Given the description of an element on the screen output the (x, y) to click on. 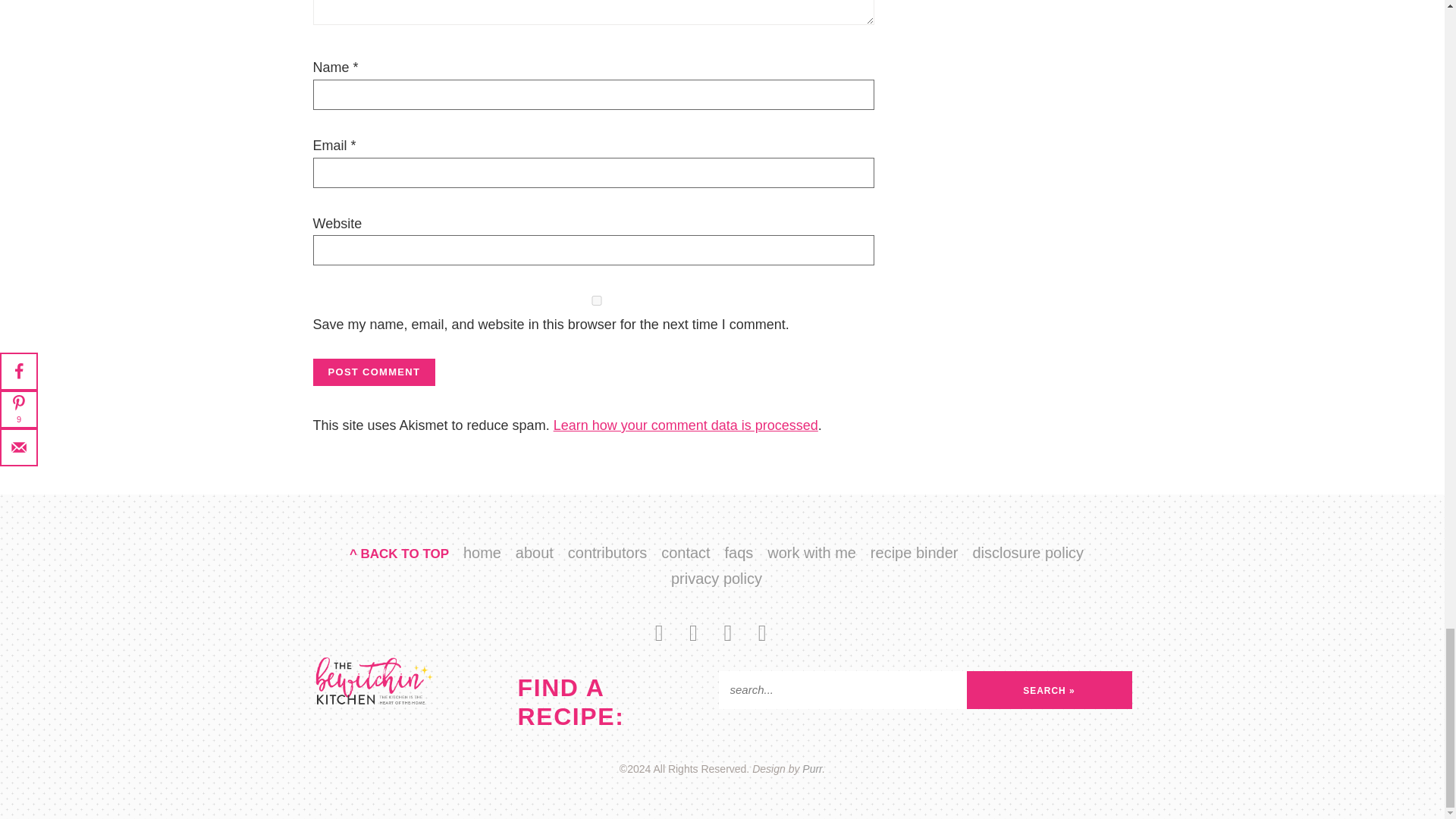
Post Comment (374, 371)
yes (595, 300)
